Given the description of an element on the screen output the (x, y) to click on. 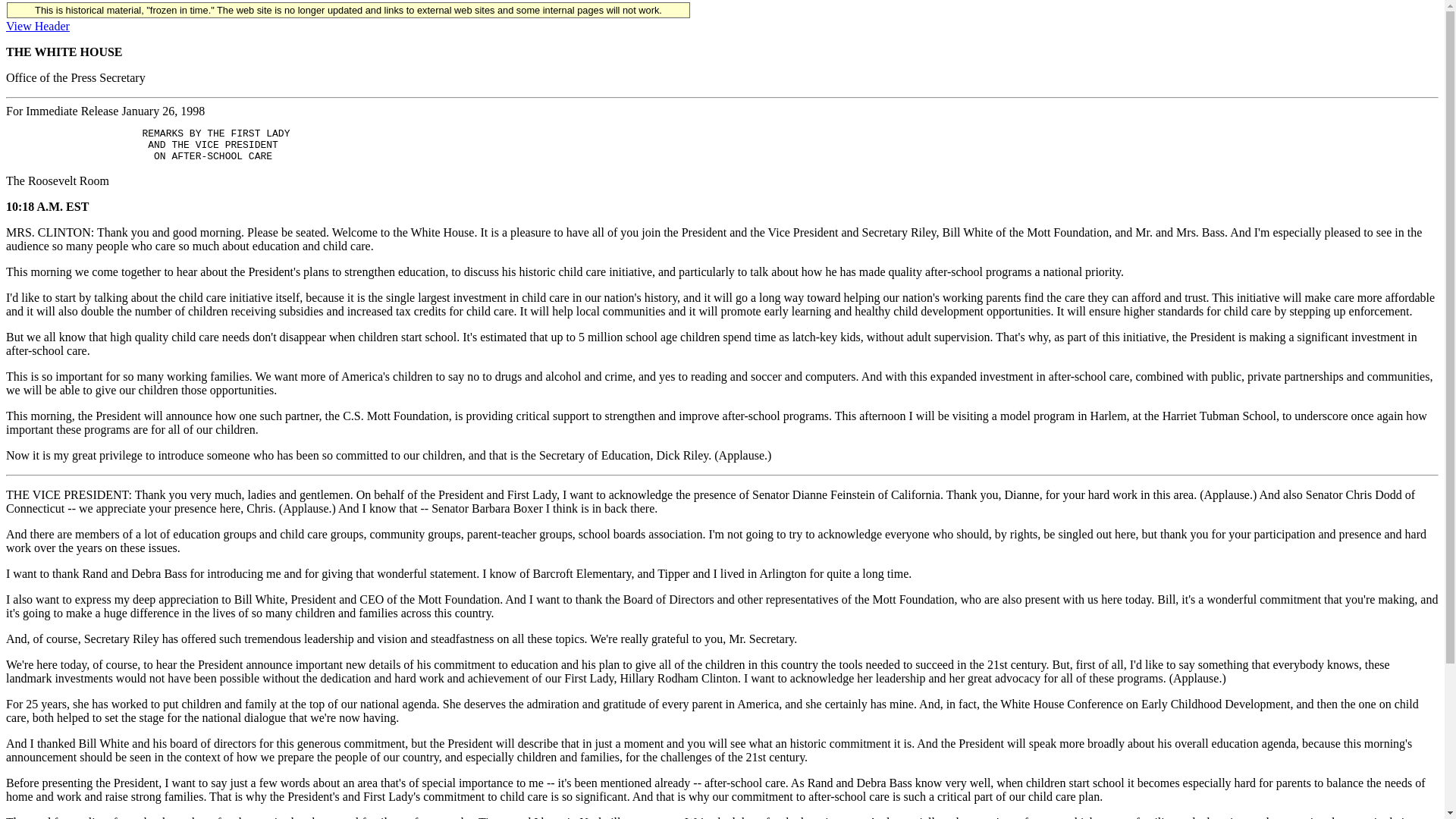
View Header (37, 25)
